Given the description of an element on the screen output the (x, y) to click on. 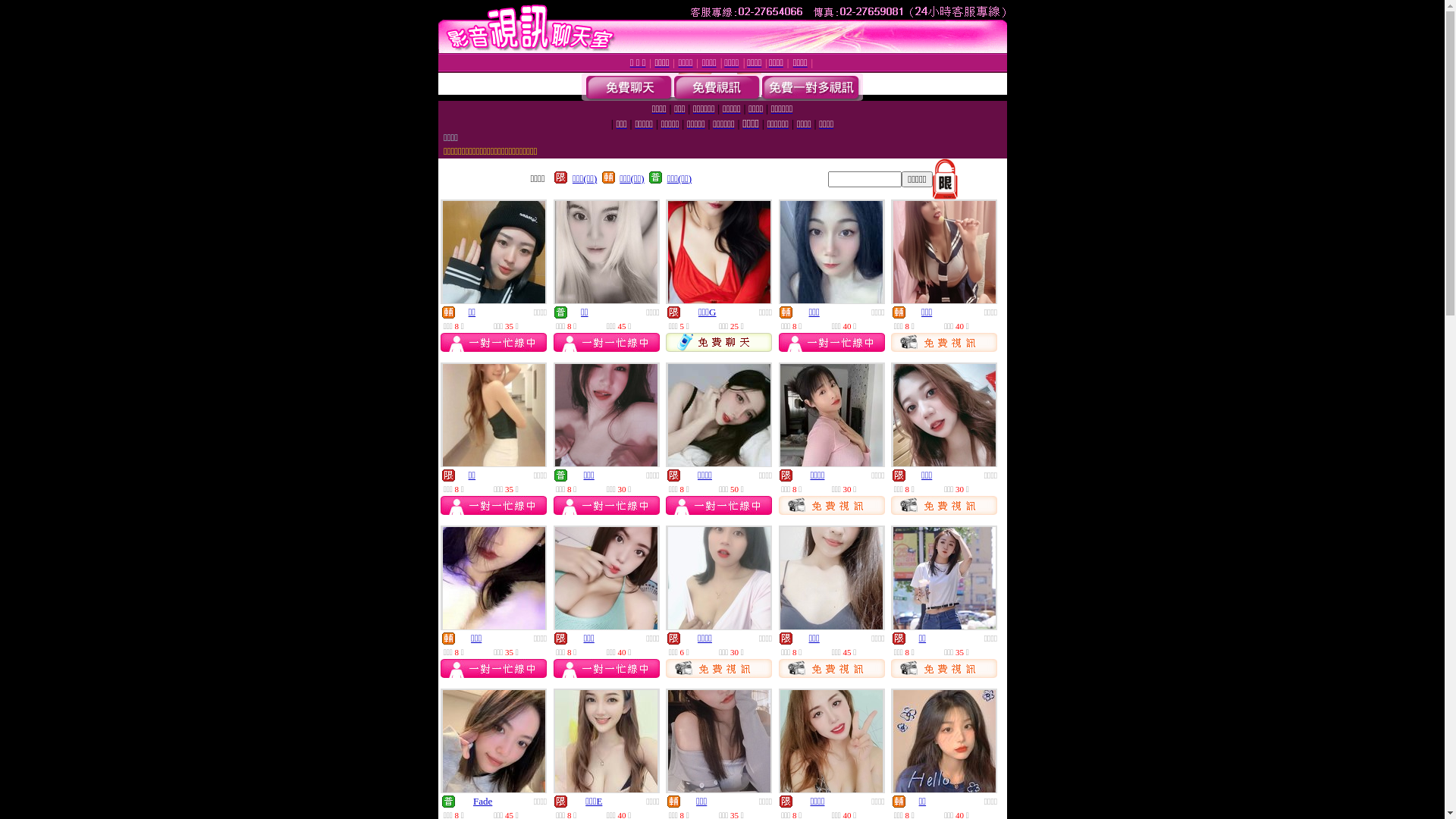
Fade Element type: text (482, 800)
